Given the description of an element on the screen output the (x, y) to click on. 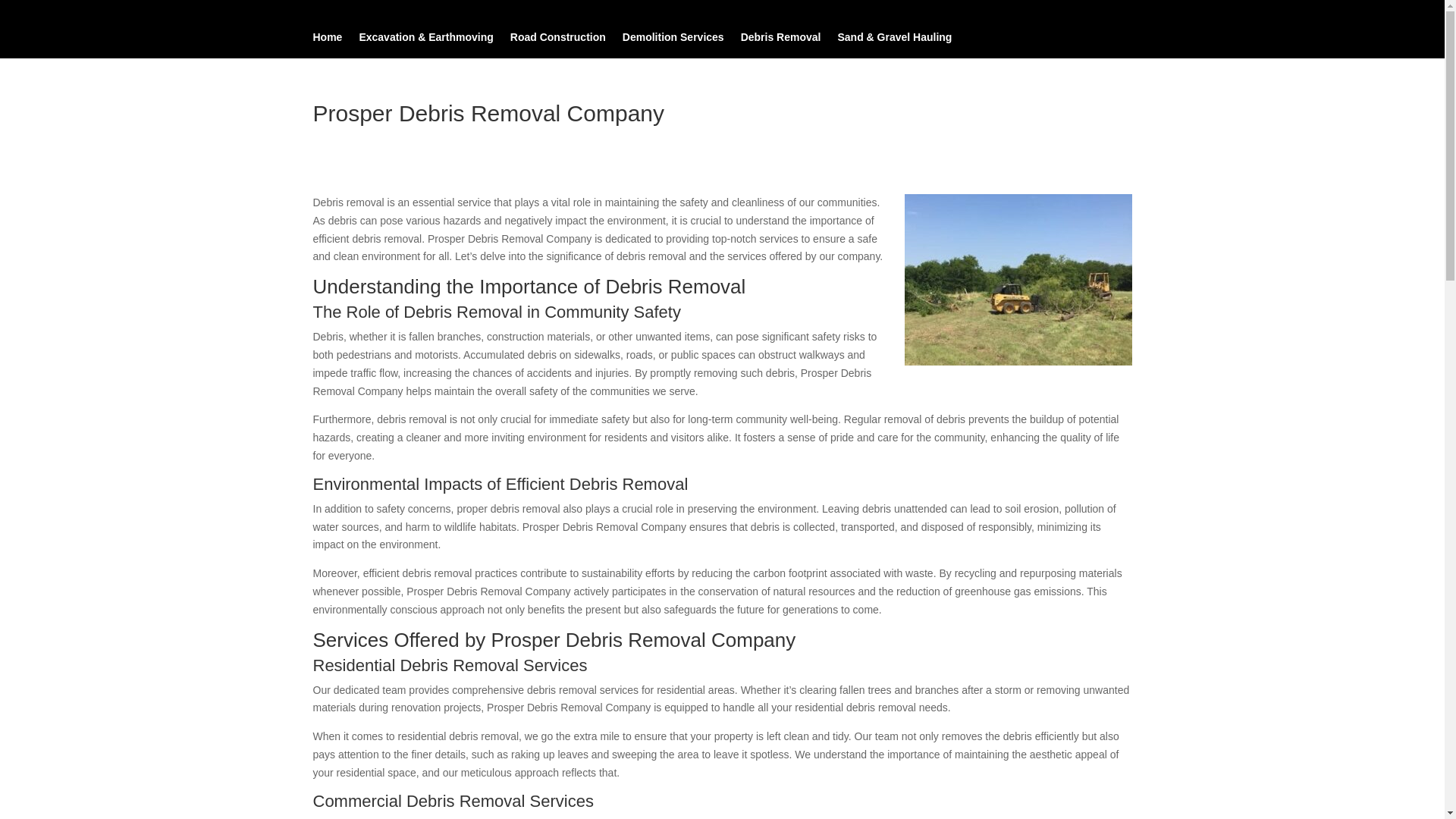
Debris Removal (781, 39)
Road Construction (558, 39)
Home (327, 39)
Demolition Services (673, 39)
